Given the description of an element on the screen output the (x, y) to click on. 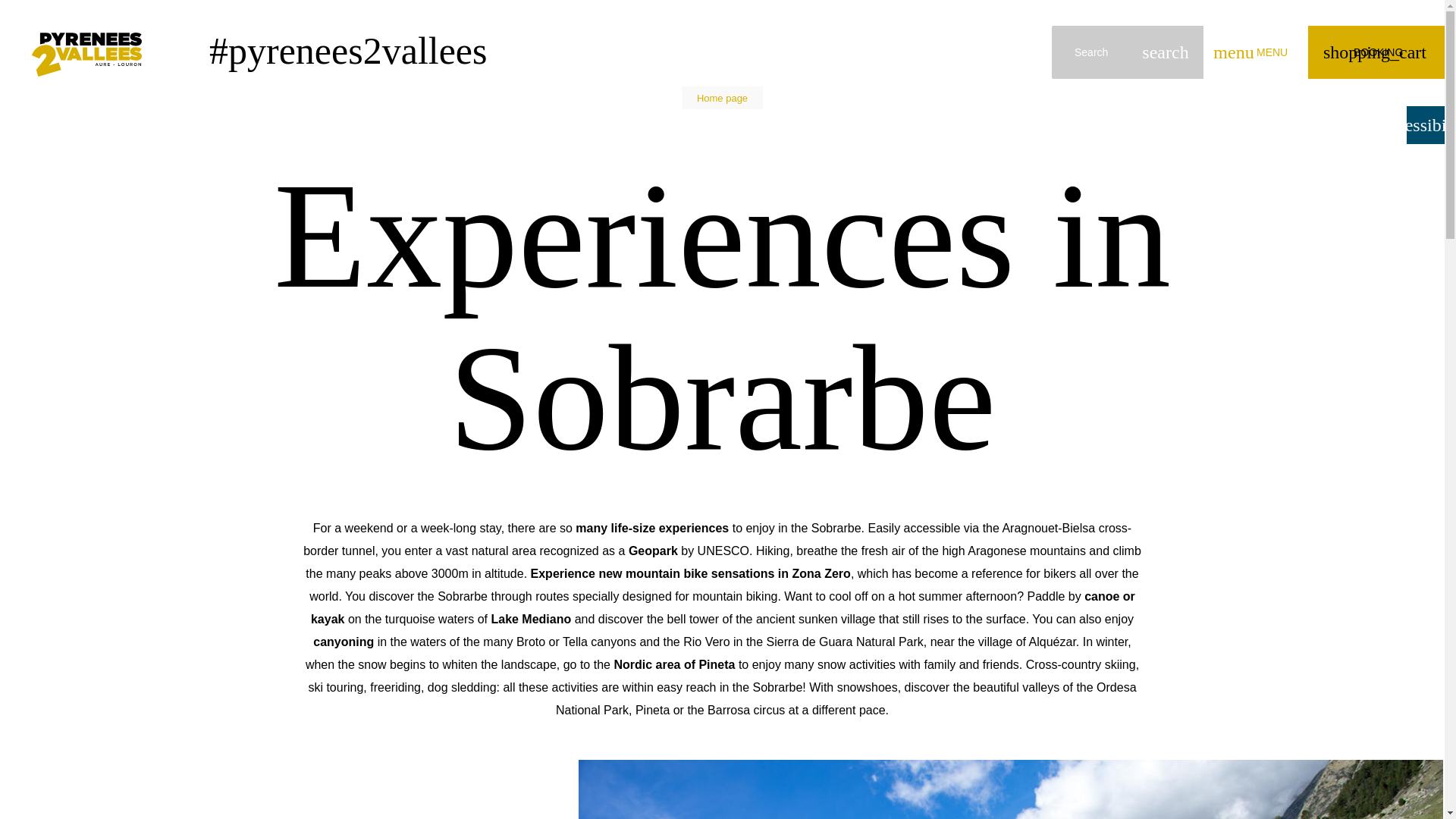
Home page (722, 98)
